Given the description of an element on the screen output the (x, y) to click on. 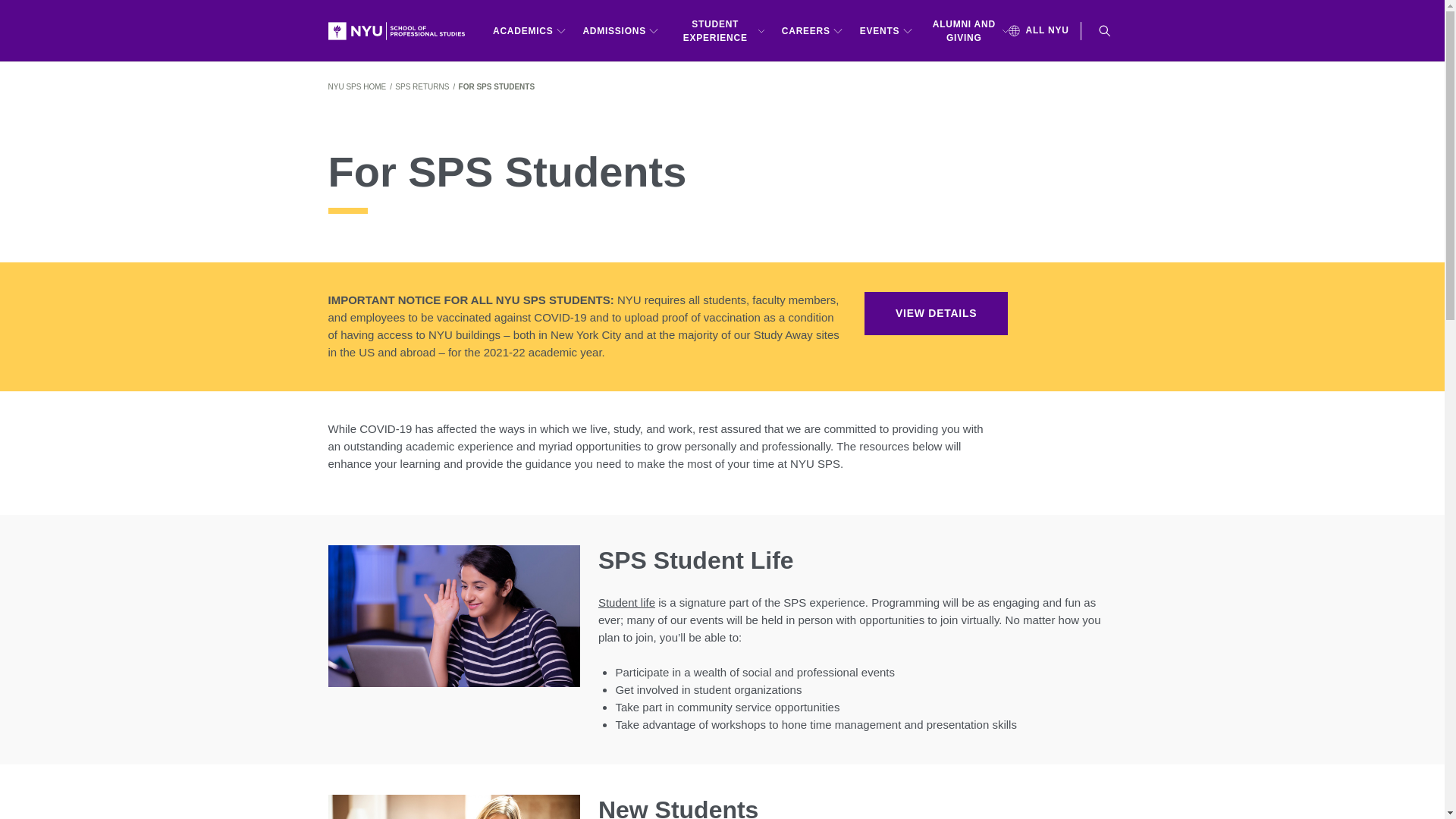
ADMISSIONS (620, 30)
NYU Homepage (401, 30)
ACADEMICS (529, 30)
